Given the description of an element on the screen output the (x, y) to click on. 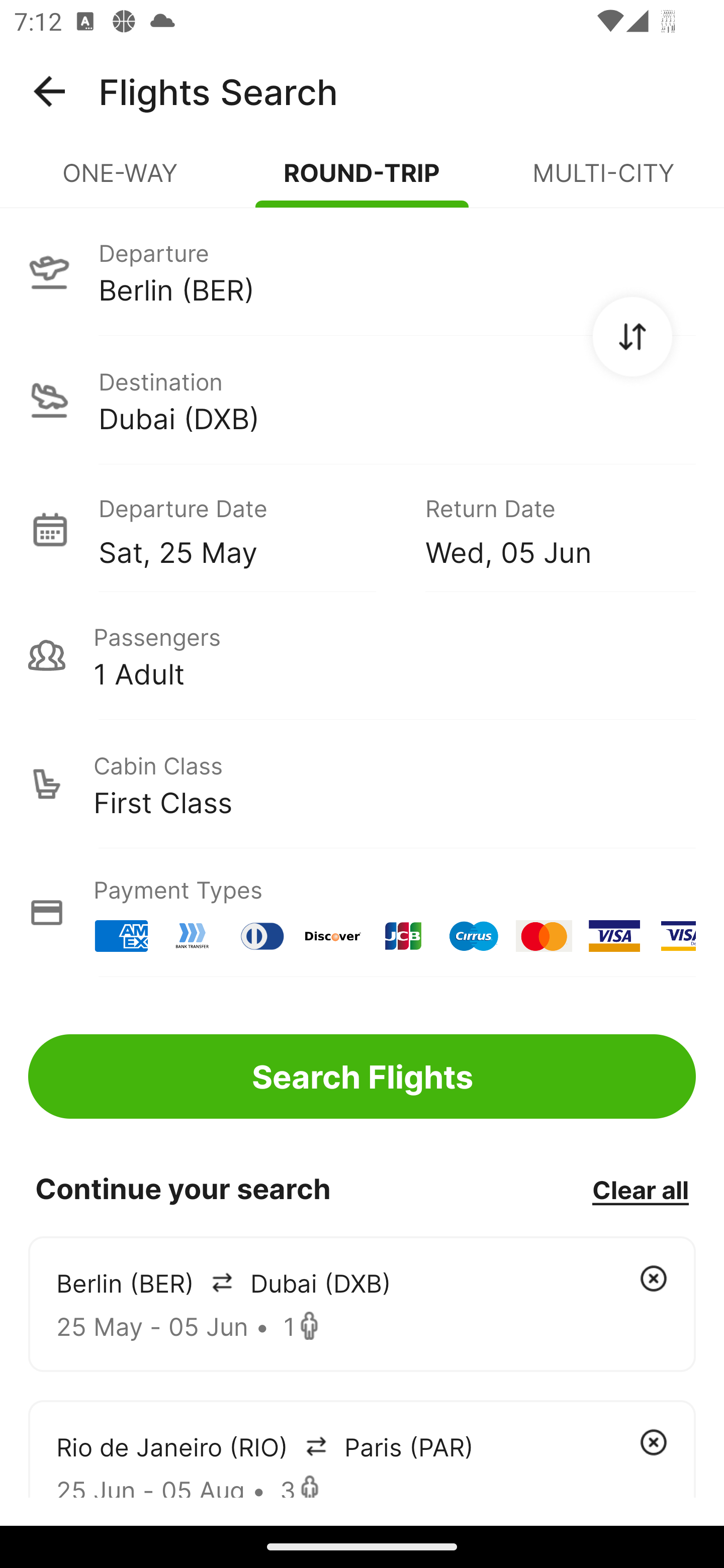
ONE-WAY (120, 180)
ROUND-TRIP (361, 180)
MULTI-CITY (603, 180)
Departure Berlin (BER) (362, 270)
Destination Dubai (DXB) (362, 400)
Departure Date Sat, 25 May (247, 528)
Return Date Wed, 05 Jun (546, 528)
Passengers 1 Adult (362, 655)
Cabin Class First Class (362, 783)
Payment Types (362, 912)
Search Flights (361, 1075)
Clear all (640, 1189)
